Given the description of an element on the screen output the (x, y) to click on. 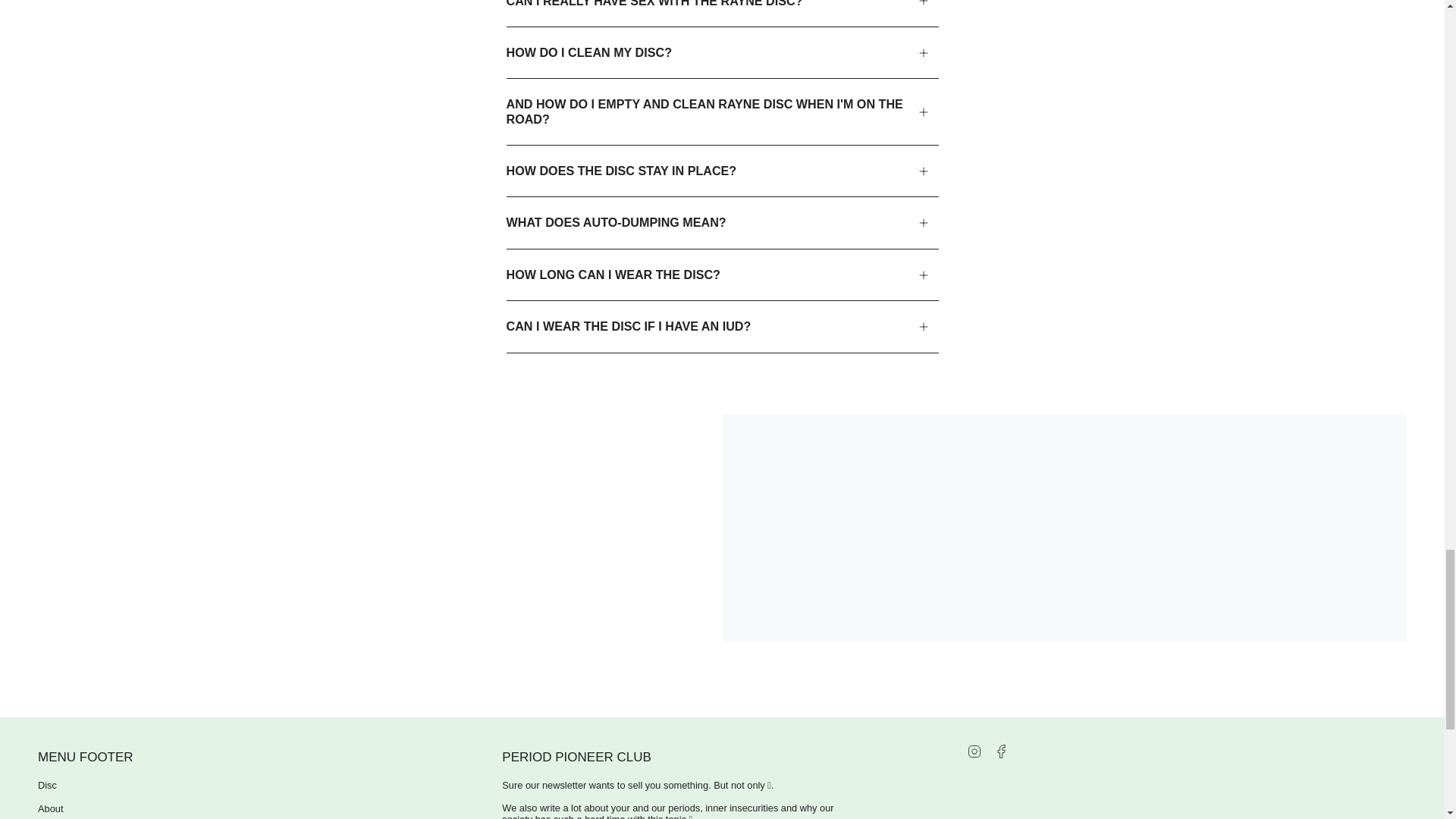
rayne on Instagram (973, 749)
rayne on Facebook (1001, 749)
